Given the description of an element on the screen output the (x, y) to click on. 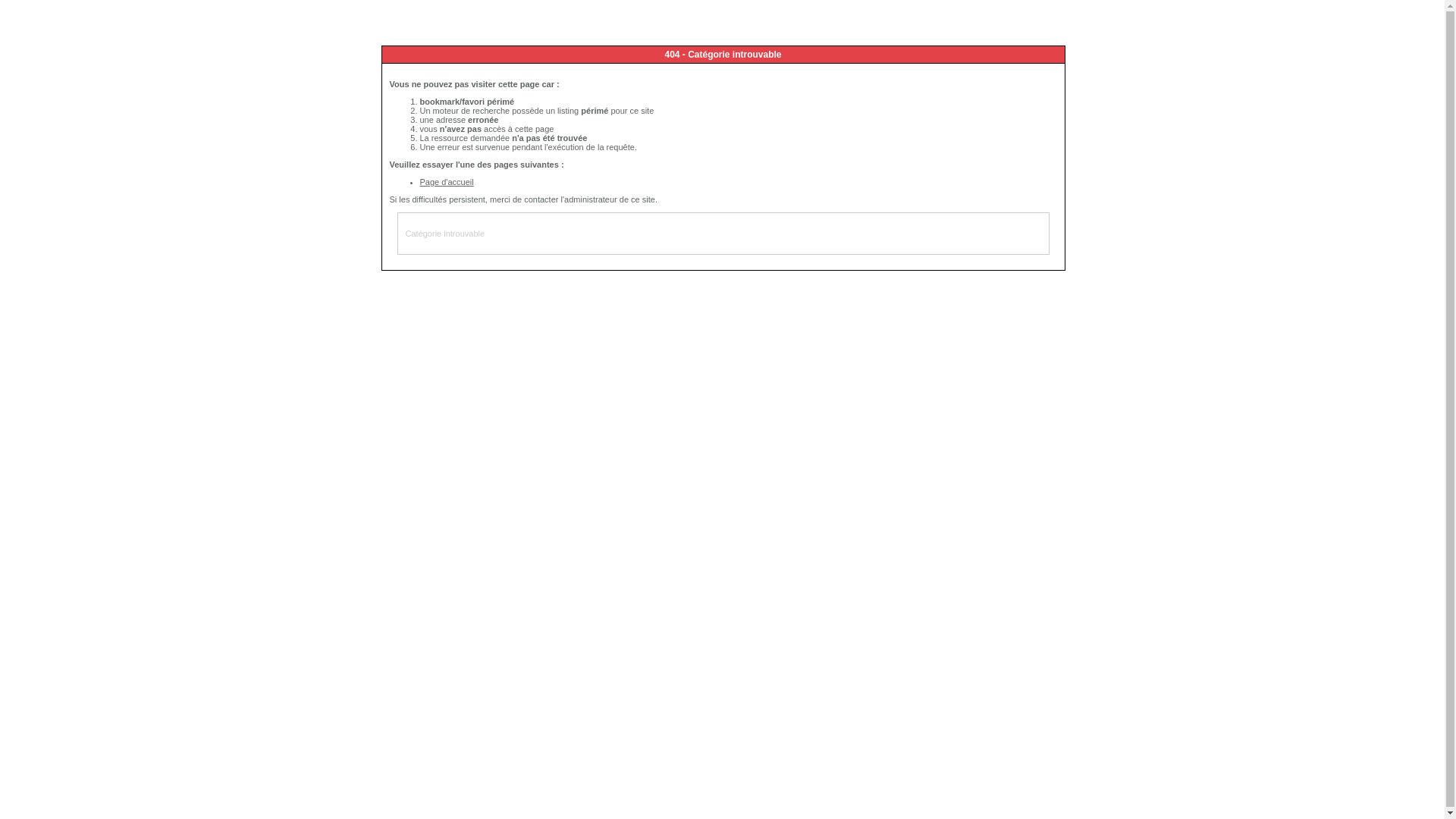
Page d'accueil Element type: text (446, 181)
